Given the description of an element on the screen output the (x, y) to click on. 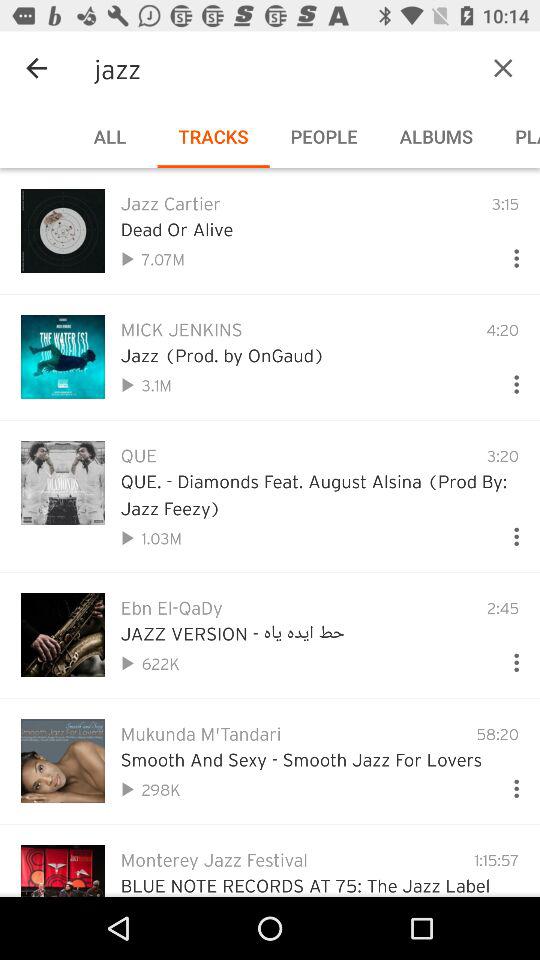
more options (508, 532)
